Given the description of an element on the screen output the (x, y) to click on. 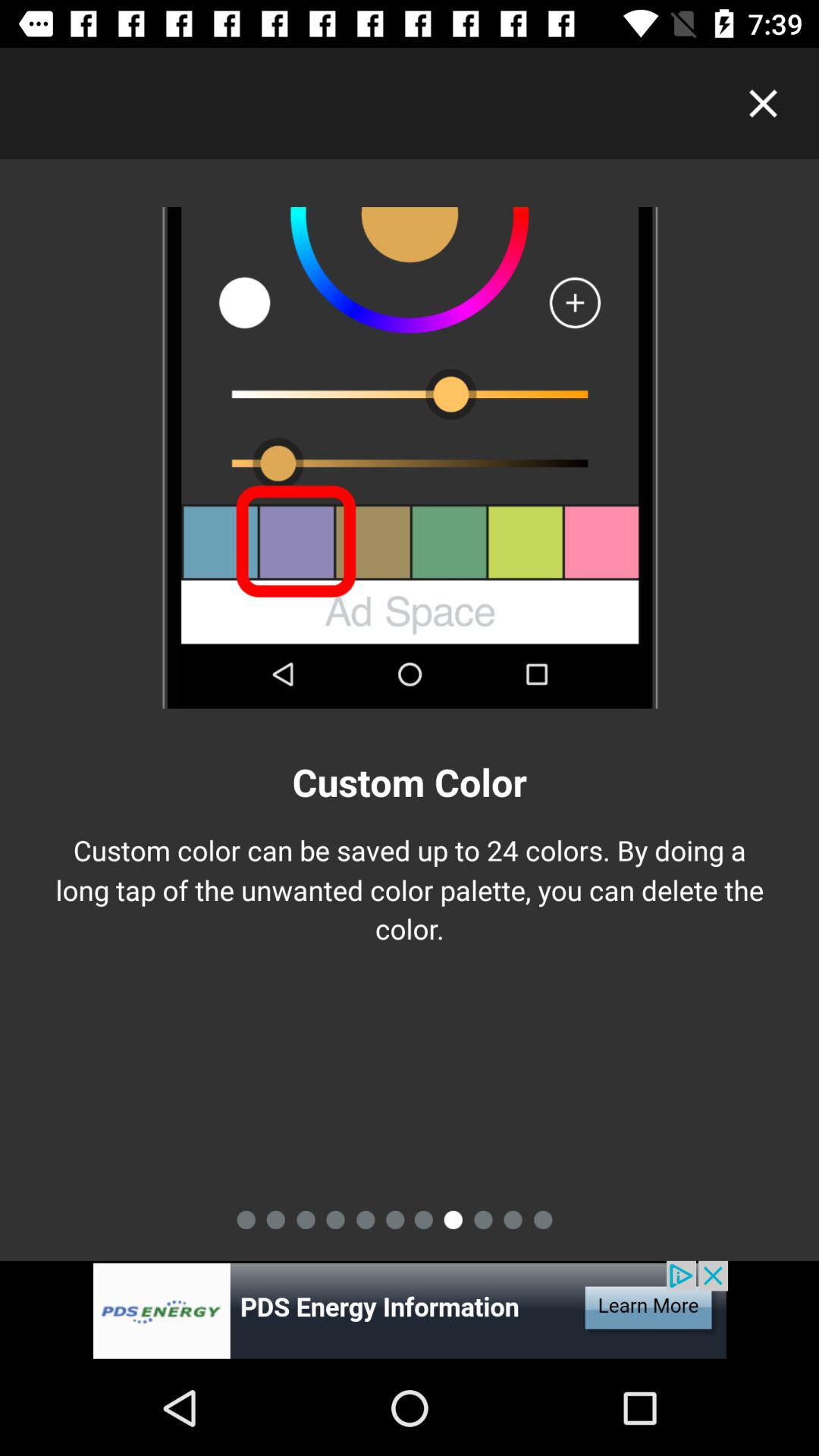
close the tutorial (763, 103)
